Given the description of an element on the screen output the (x, y) to click on. 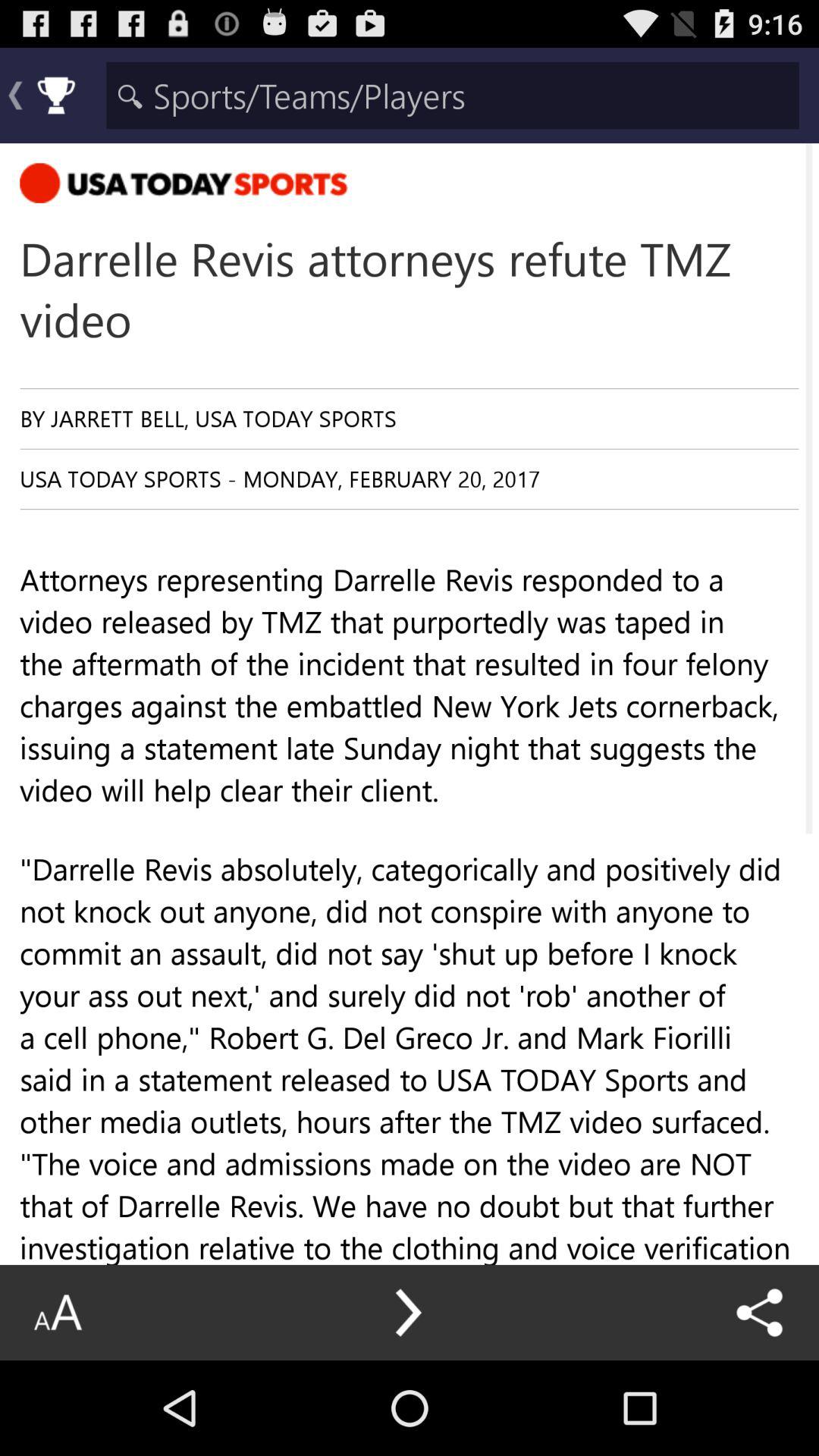
search input (452, 95)
